Given the description of an element on the screen output the (x, y) to click on. 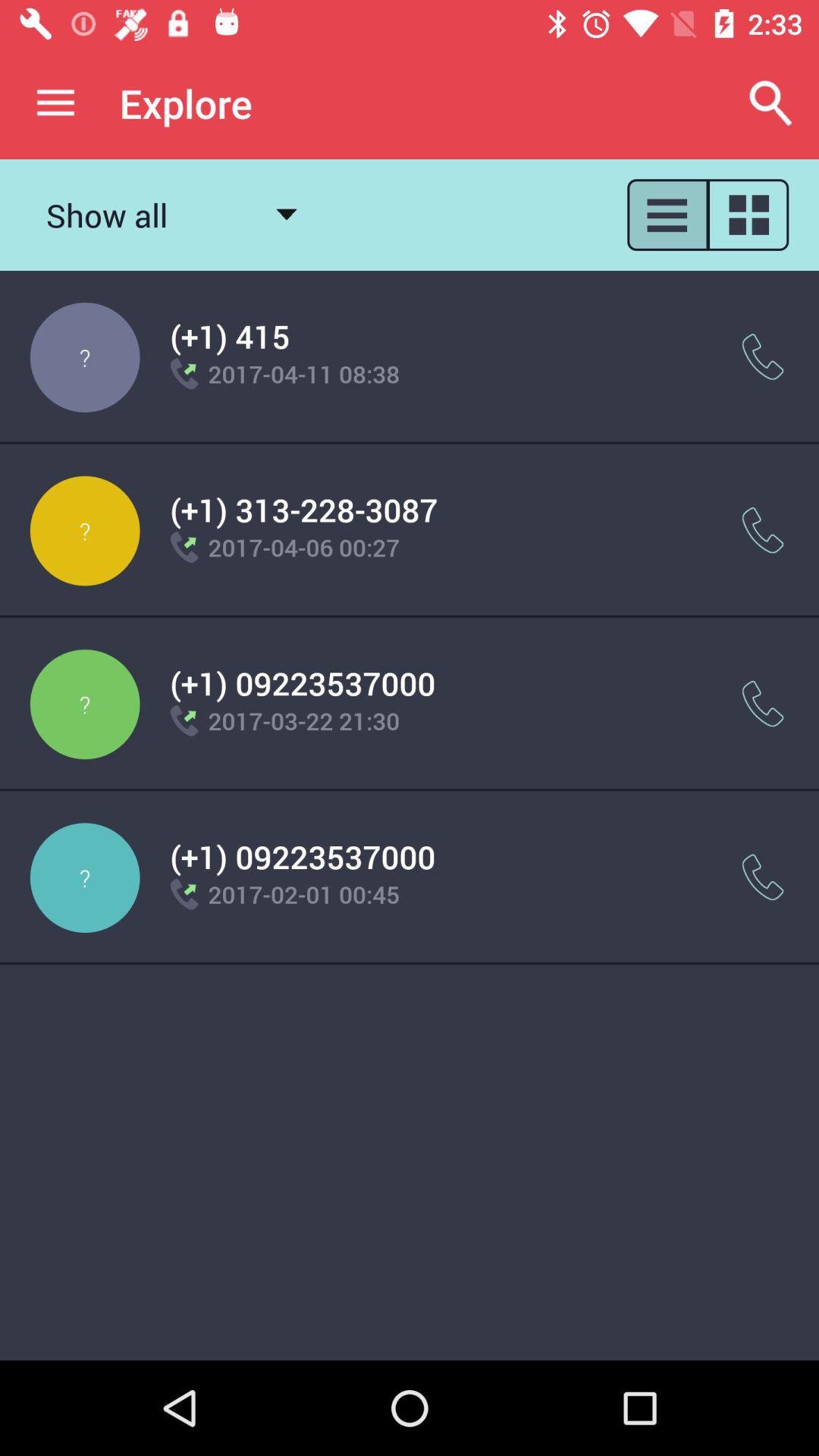
launch app to the left of explore app (55, 103)
